Given the description of an element on the screen output the (x, y) to click on. 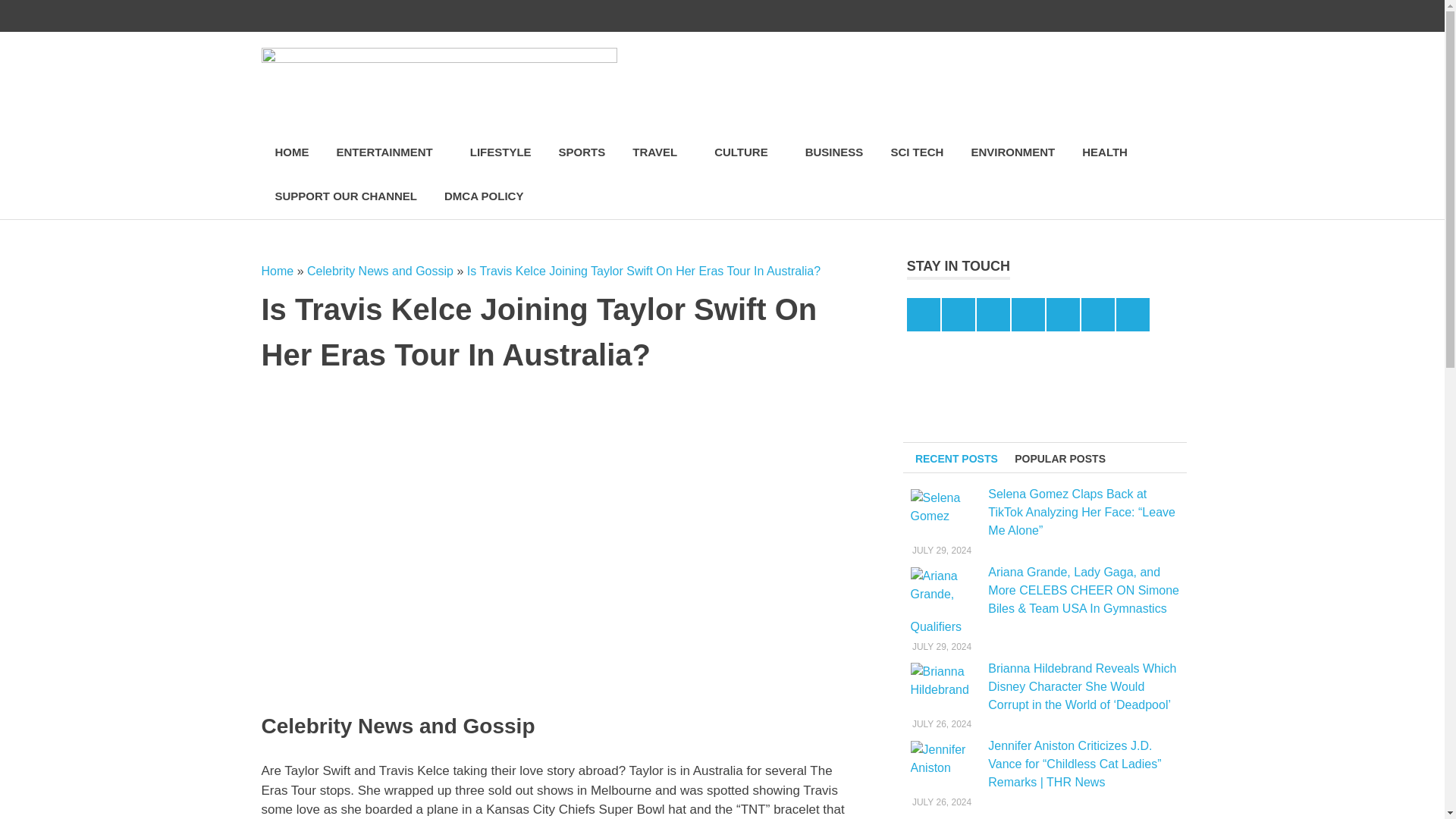
TRAVEL (659, 152)
CULTURE (746, 152)
Home (277, 270)
Telegram (1103, 15)
DMCA POLICY (483, 196)
SPORTS (582, 152)
Instagram (1007, 15)
Home (277, 270)
